Given the description of an element on the screen output the (x, y) to click on. 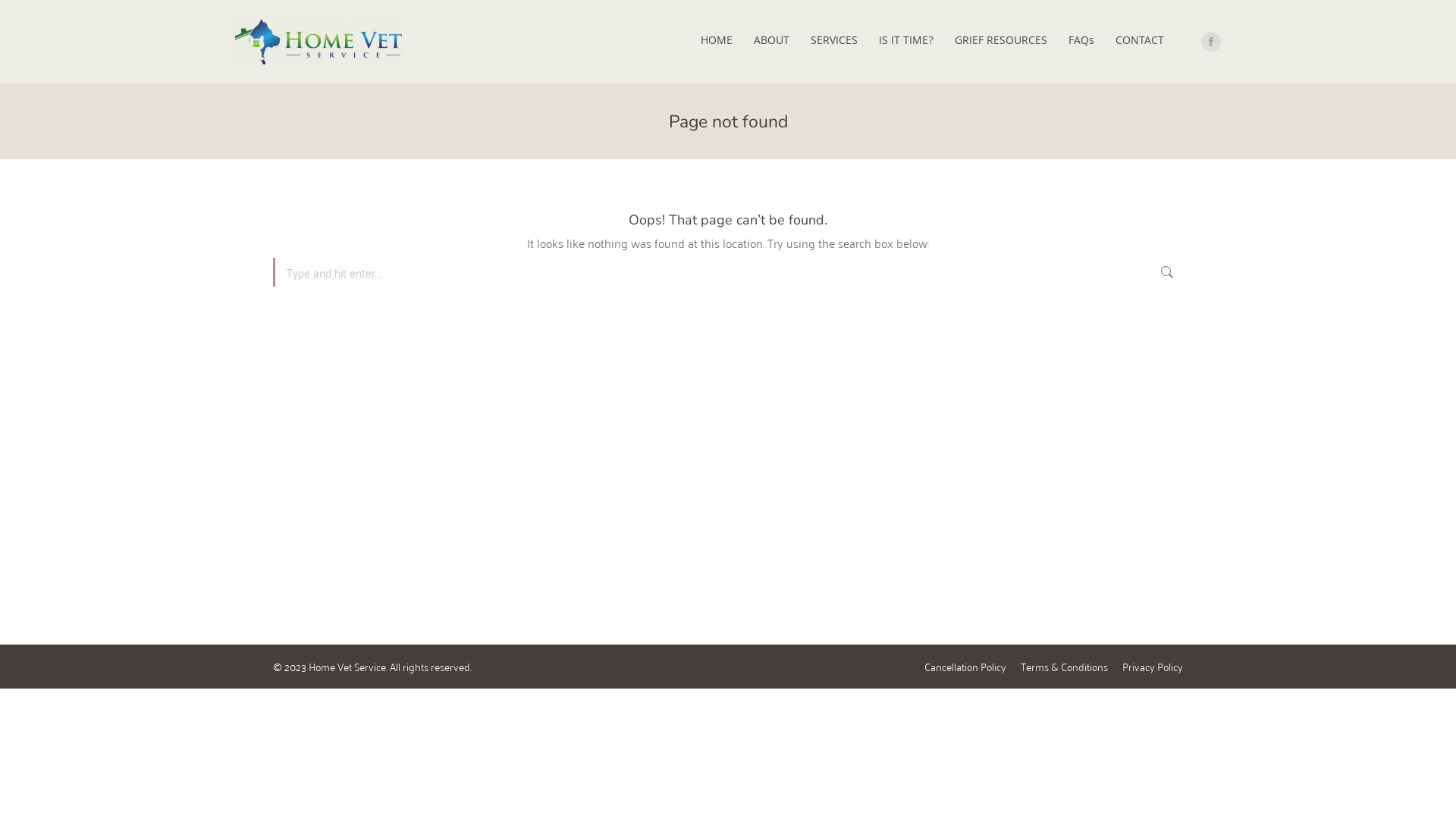
CONTACT Element type: text (1139, 41)
Cancellation Policy Element type: text (965, 666)
FAQs Element type: text (1081, 41)
GRIEF RESOURCES Element type: text (1000, 41)
SERVICES Element type: text (833, 41)
Terms & Conditions Element type: text (1063, 666)
ABOUT Element type: text (771, 41)
Facebook page opens in new window Element type: text (1210, 41)
IS IT TIME? Element type: text (905, 41)
Go! Element type: text (1207, 274)
HOME Element type: text (716, 41)
Privacy Policy Element type: text (1152, 666)
